Given the description of an element on the screen output the (x, y) to click on. 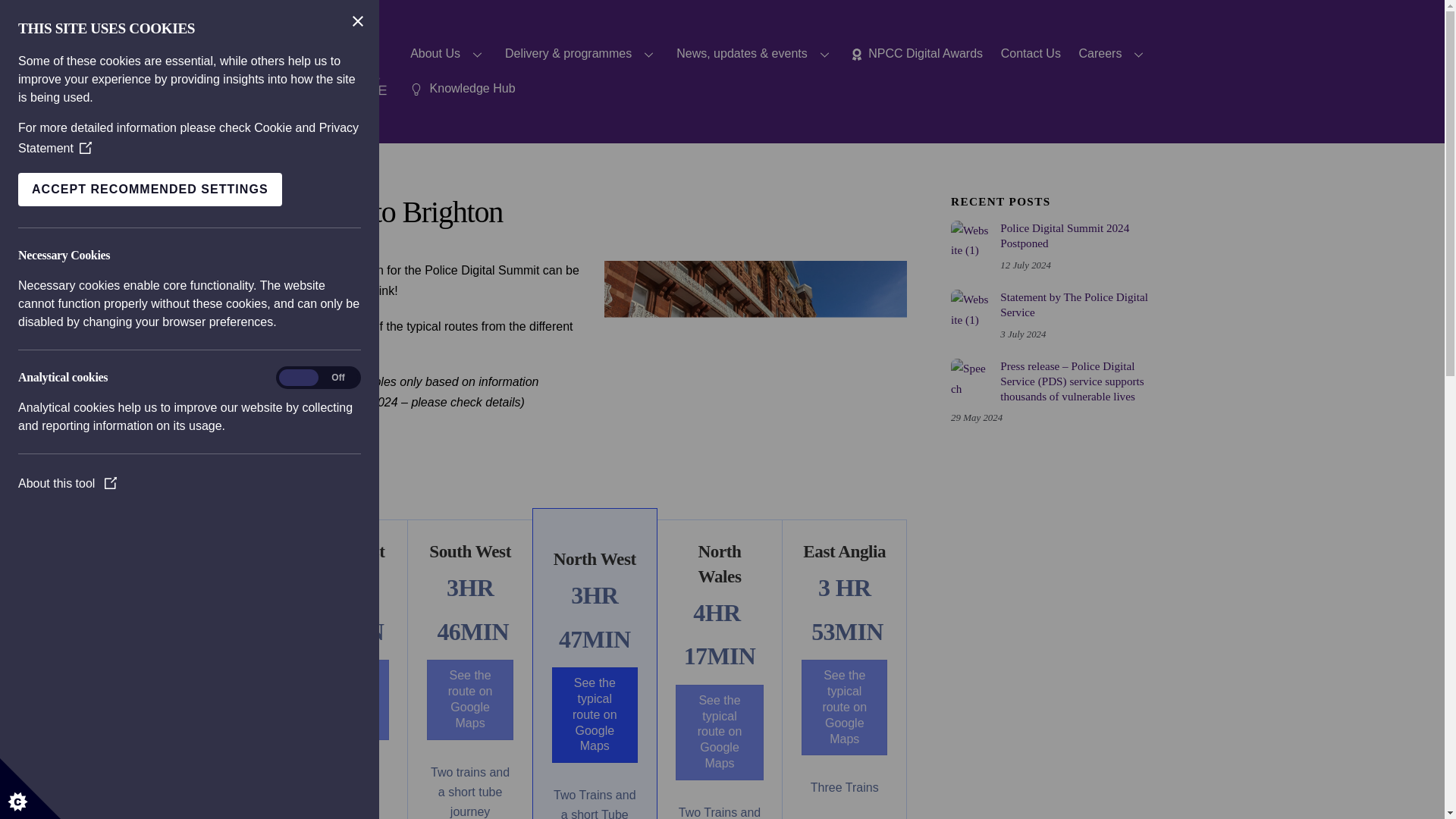
COOKIE CONTROL ICON (30, 788)
About Us (449, 54)
See the route on Google Maps (469, 699)
Speech bubbles on a purple background. Link to article page (969, 377)
Police Digital Service (335, 118)
See the route on Google Maps (344, 699)
Knowledge Hub (462, 88)
NPCC Digital Awards (917, 54)
Careers (1113, 54)
Contact Us (1029, 54)
